Given the description of an element on the screen output the (x, y) to click on. 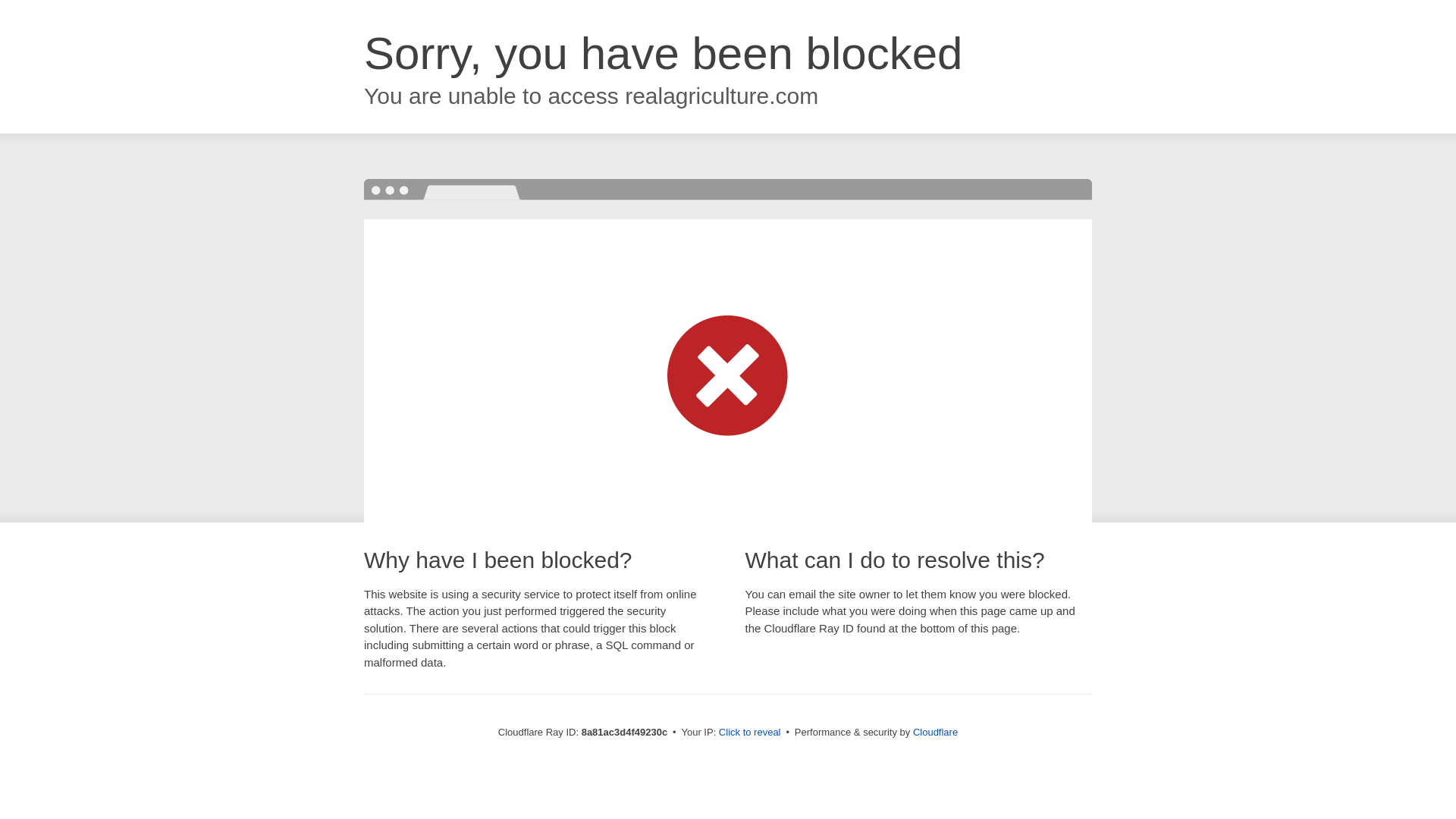
Click to reveal (749, 732)
Cloudflare (935, 731)
